Given the description of an element on the screen output the (x, y) to click on. 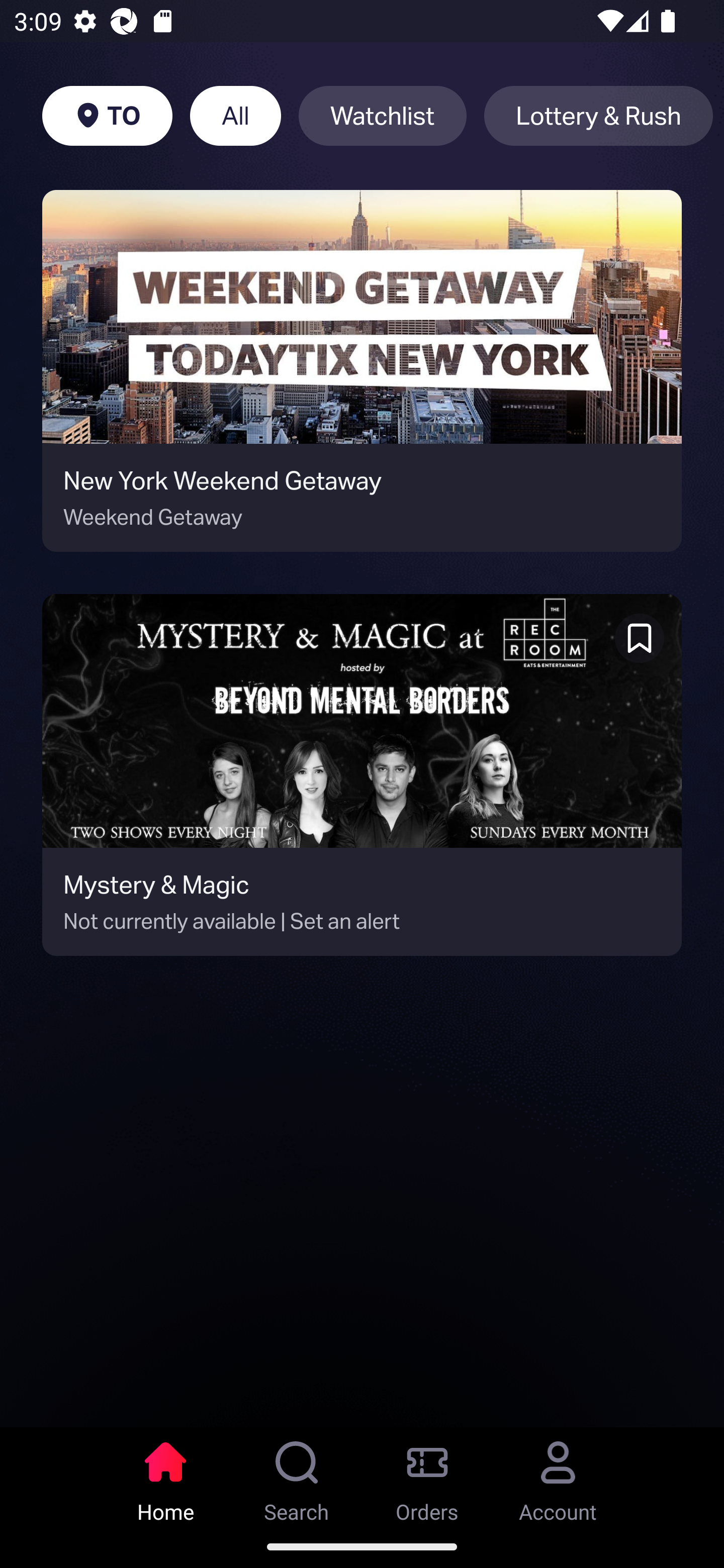
TO (106, 115)
All (234, 115)
Watchlist (382, 115)
Lottery & Rush (598, 115)
New York Weekend Getaway Weekend Getaway (361, 370)
Search (296, 1475)
Orders (427, 1475)
Account (558, 1475)
